Given the description of an element on the screen output the (x, y) to click on. 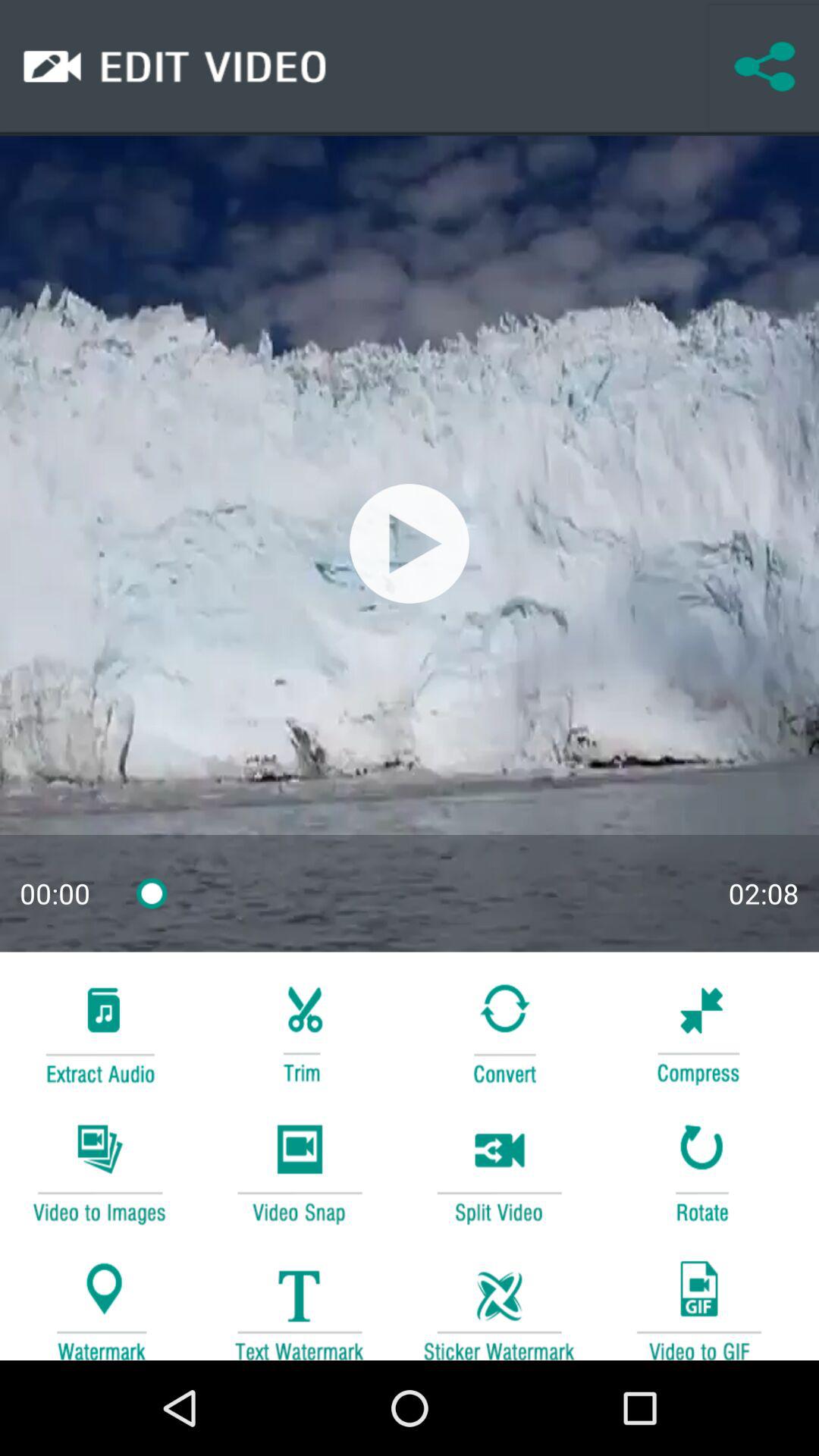
compress the video (698, 1032)
